Given the description of an element on the screen output the (x, y) to click on. 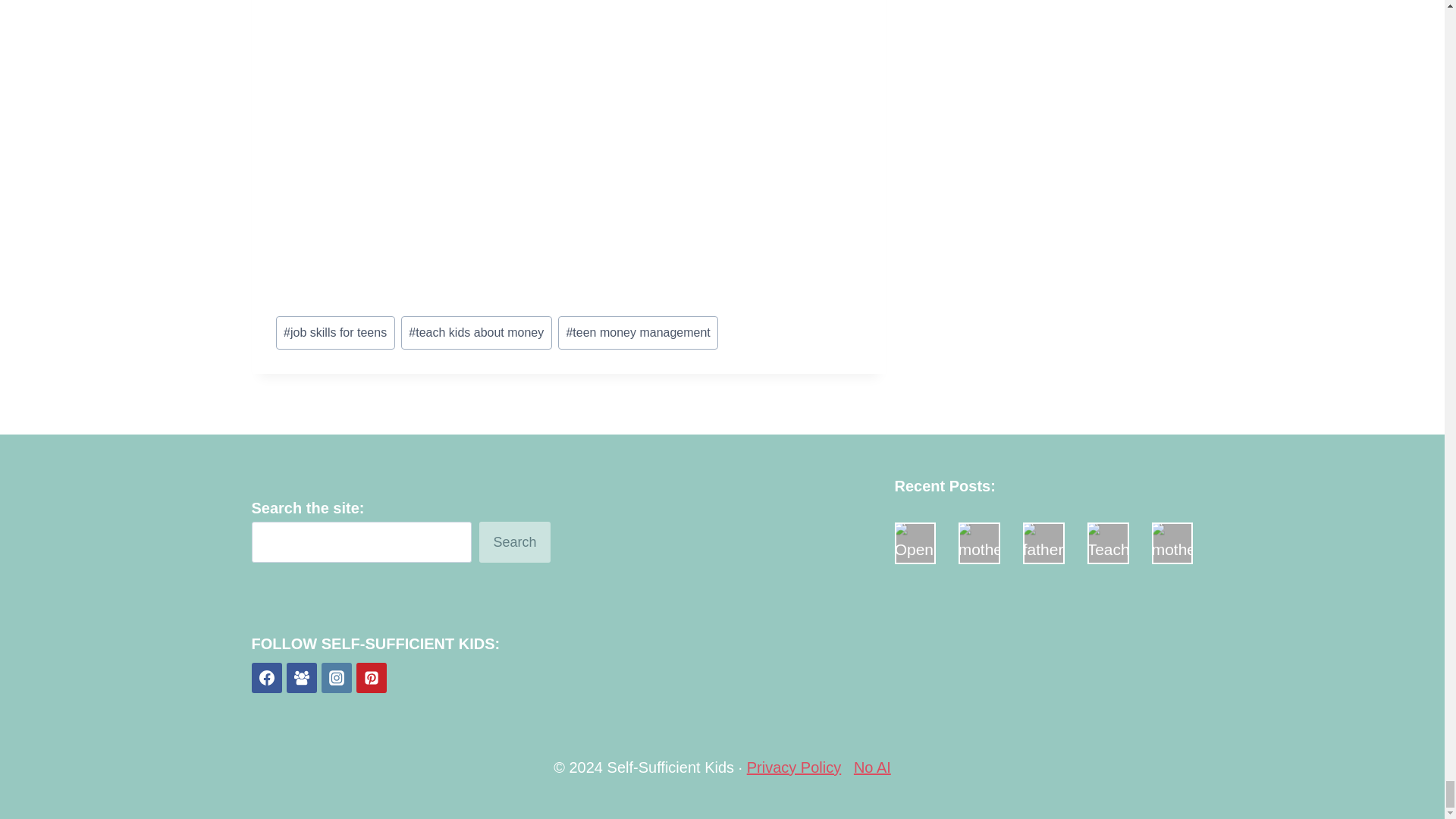
job skills for teens (335, 332)
teach kids about money (476, 332)
teen money management (638, 332)
